Given the description of an element on the screen output the (x, y) to click on. 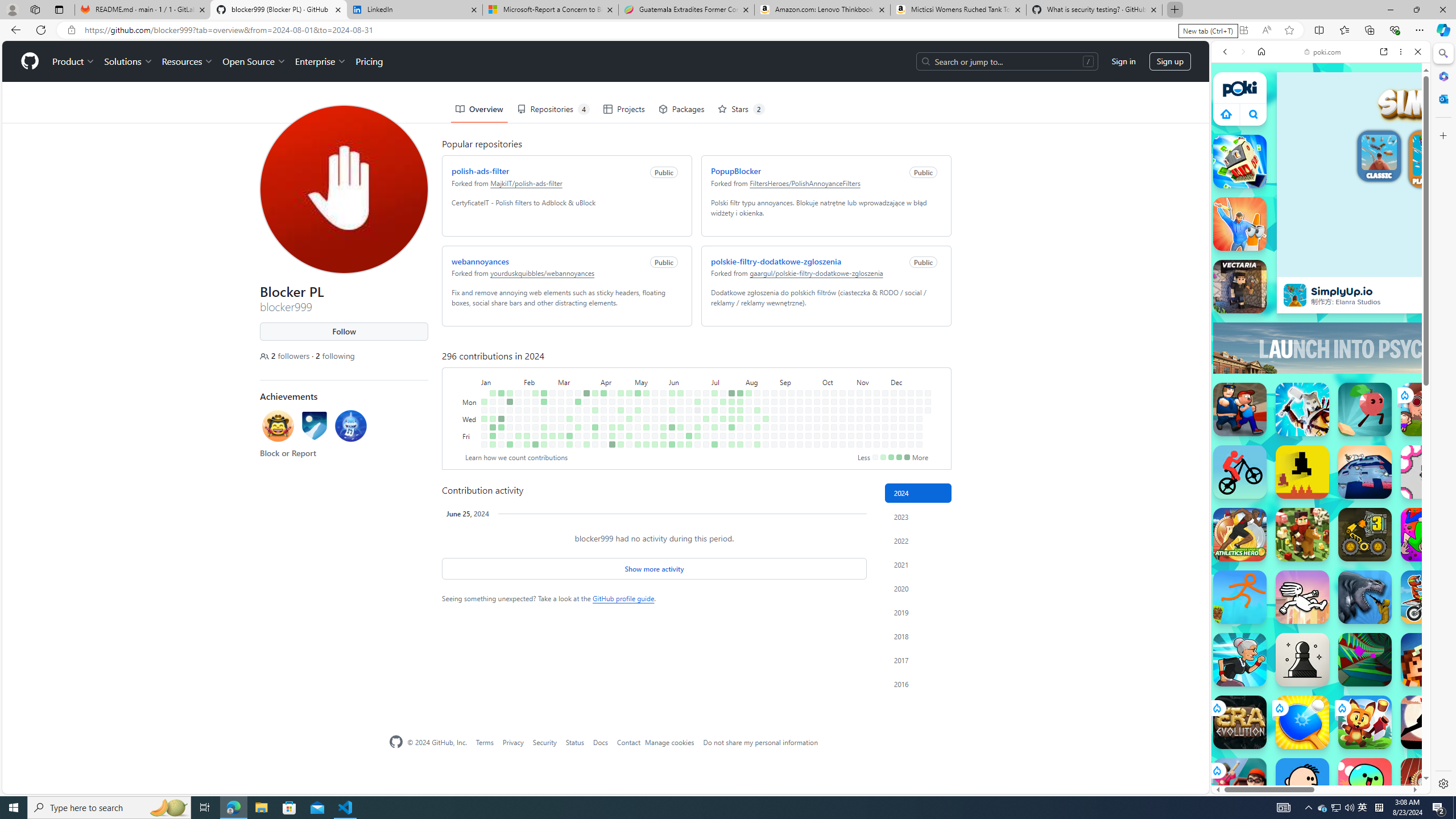
No contributions on August 14th. (757, 418)
2 followers  (285, 355)
1 contribution on January 13th. (492, 444)
Vectaria.io (1239, 286)
3 contributions on March 1st. (552, 435)
No contributions on April 6th. (595, 444)
Search Filter, WEB (1230, 129)
No contributions on January 2nd. (483, 410)
1 contribution on May 3rd. (628, 435)
No contributions on May 22nd. (655, 418)
Search Filter, VIDEOS (1300, 129)
This site scope (1259, 102)
Projects (623, 108)
No contributions on October 5th. (816, 444)
